Given the description of an element on the screen output the (x, y) to click on. 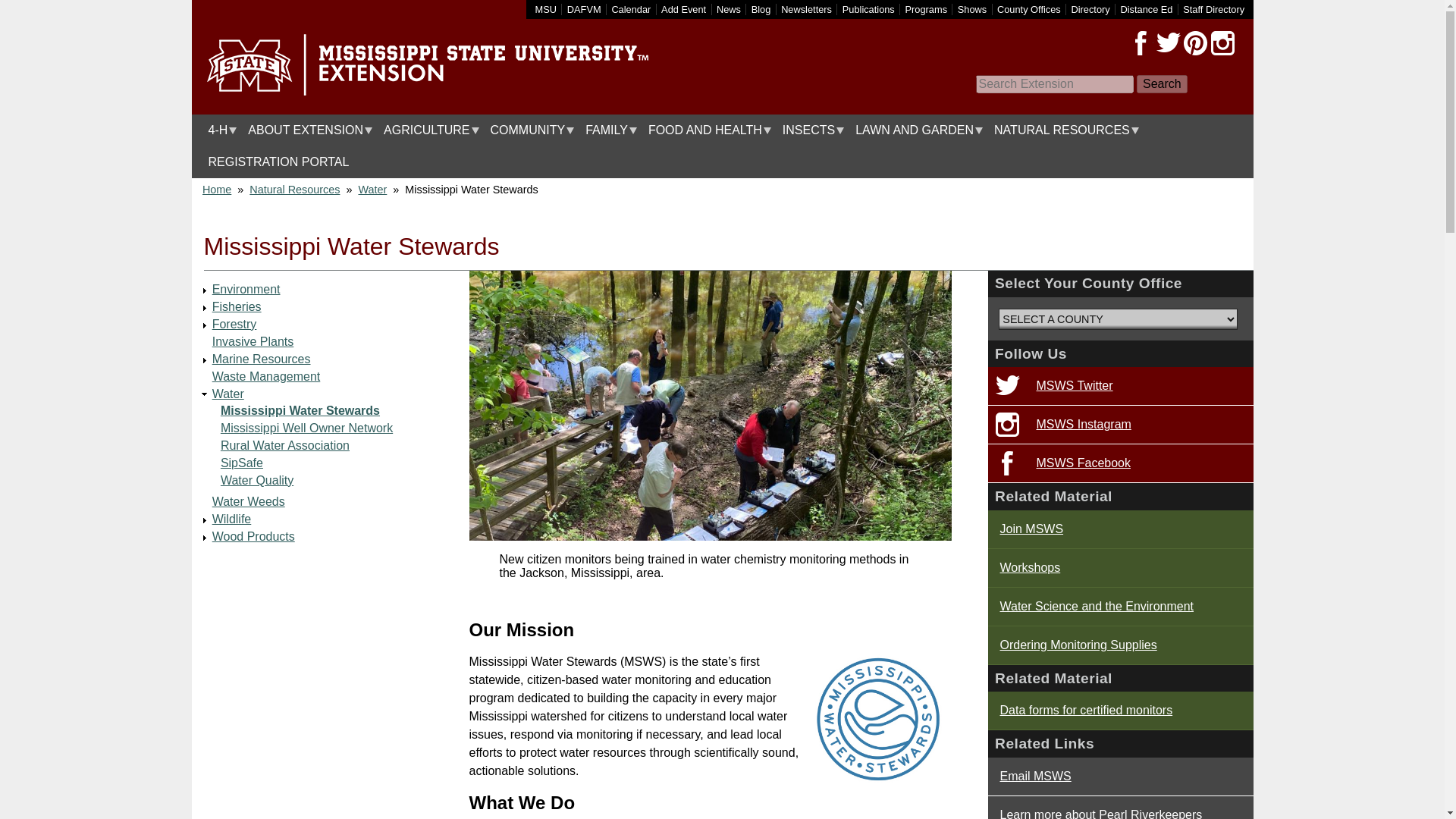
Publications (869, 9)
MSU (545, 9)
The main event calendar for the MSU Extension Service (630, 9)
DAFVM (584, 9)
Facebook (1140, 43)
List of Extension Programs (926, 9)
4-H (218, 130)
Pinterest (1194, 43)
Find a county extension office (1029, 9)
Link to Mississippi State University (545, 9)
Staff Directory (1213, 9)
Blog (761, 9)
Shows (972, 9)
